Given the description of an element on the screen output the (x, y) to click on. 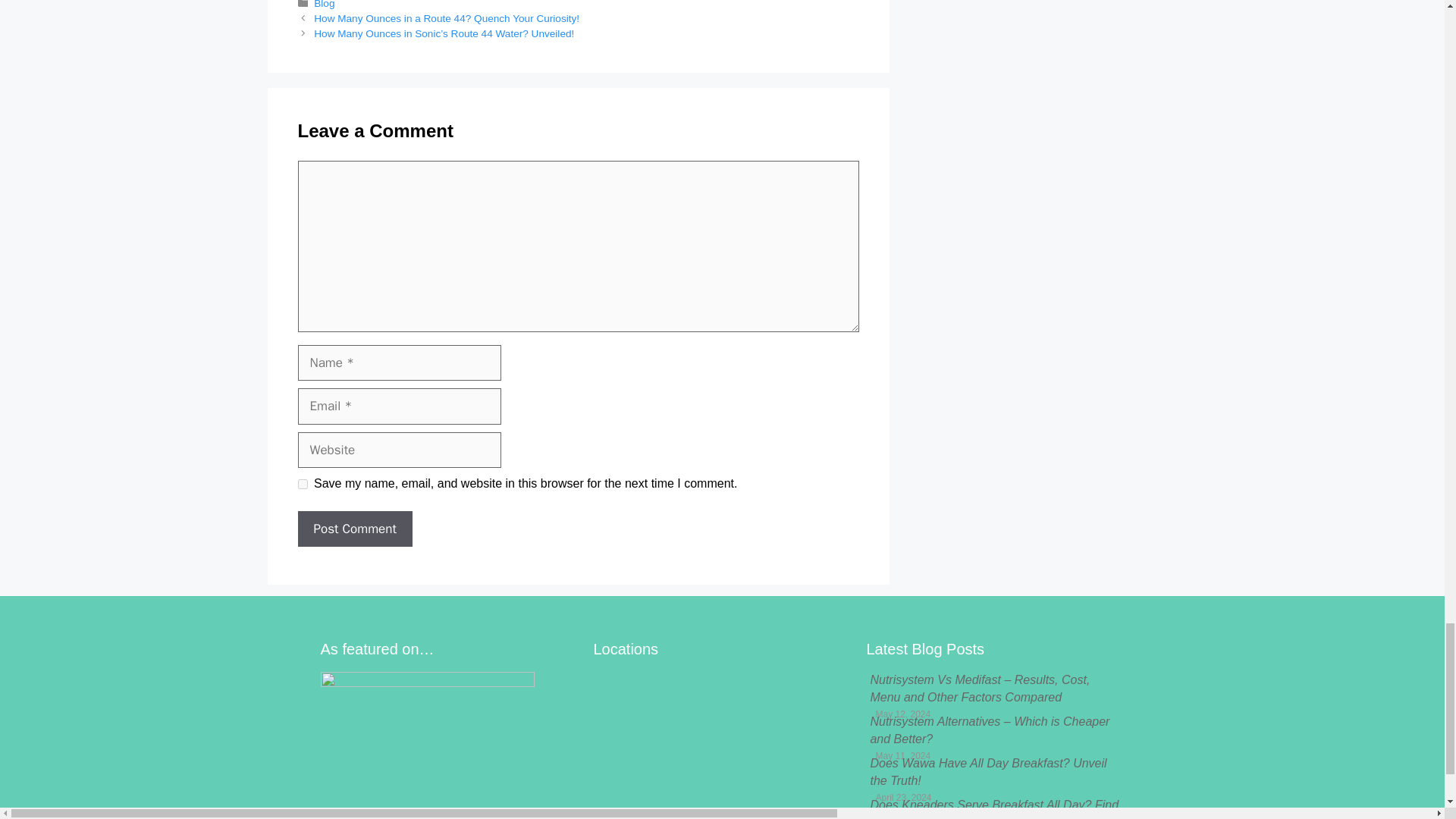
Does Wawa Have All Day Breakfast? Unveil the Truth! (987, 771)
yes (302, 483)
London Eye, London, United Kingdom (721, 745)
Does Kneaders Serve Breakfast All Day? Find Out Here! (993, 808)
Post Comment (354, 529)
